Given the description of an element on the screen output the (x, y) to click on. 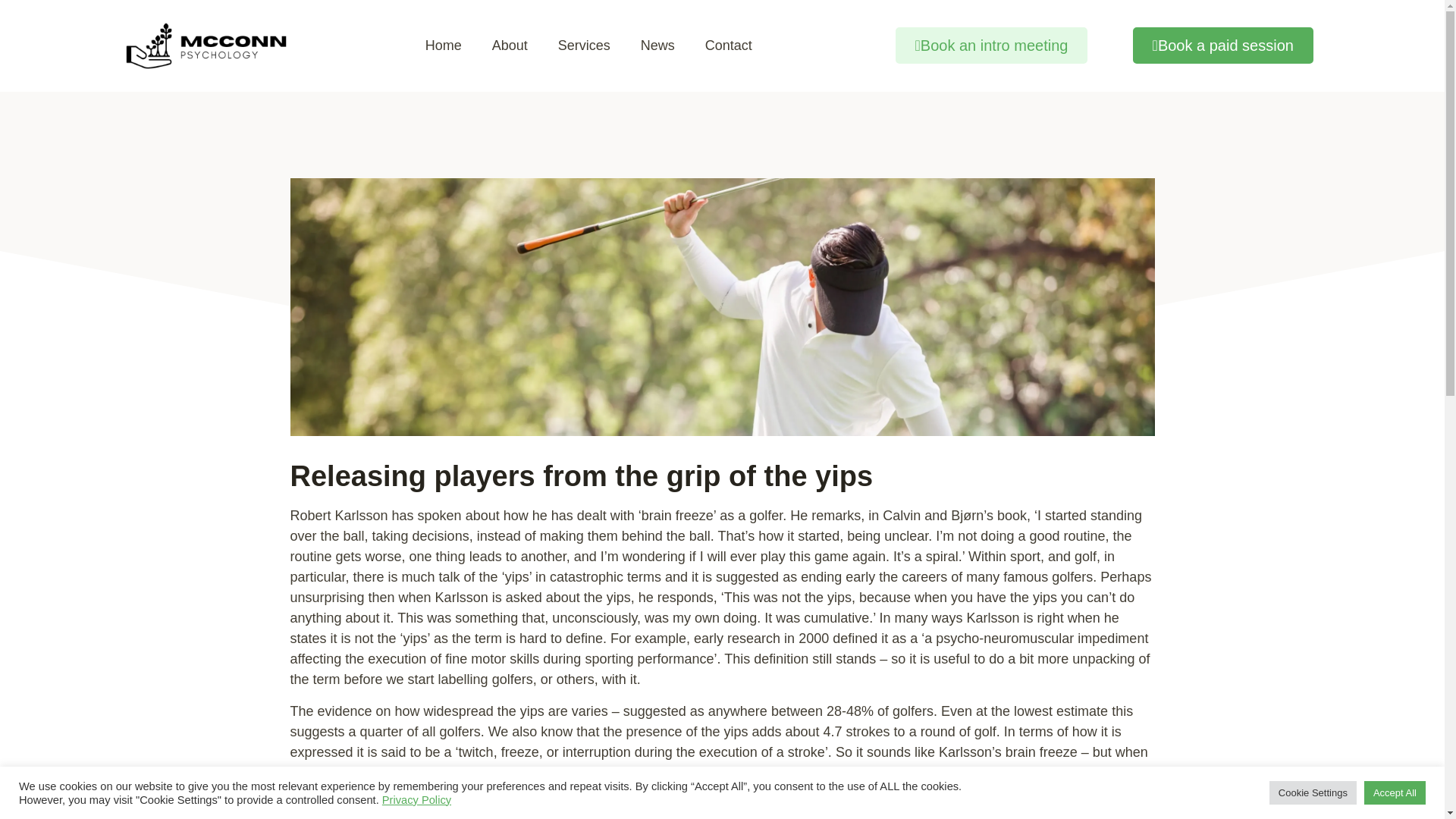
Services (584, 45)
Contact (728, 45)
News (658, 45)
Home (443, 45)
Book a paid session (1222, 45)
Book an intro meeting (991, 45)
About (510, 45)
